Given the description of an element on the screen output the (x, y) to click on. 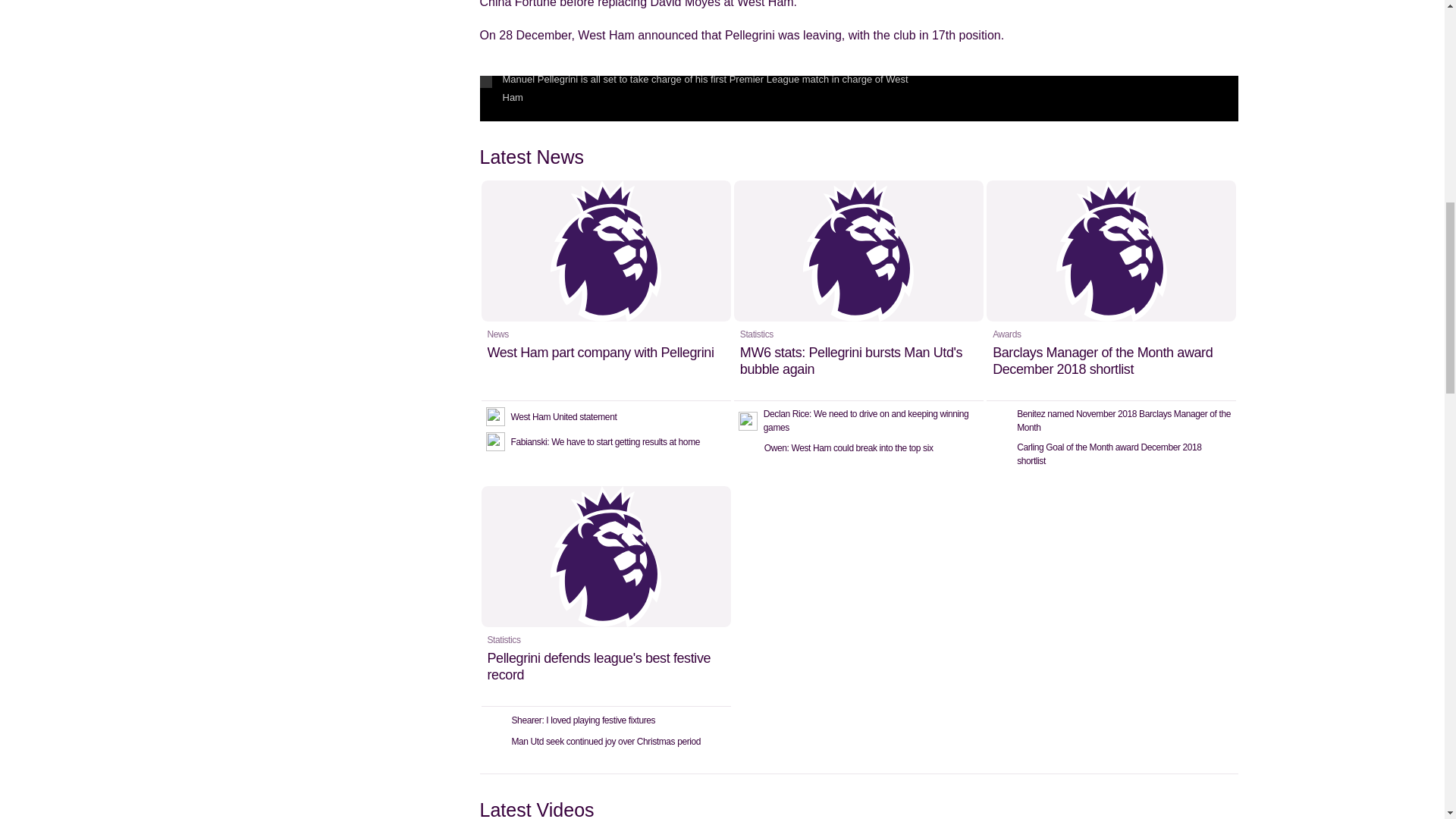
MW6 stats: Pellegrini bursts Man Utd's bubble again (858, 290)
West Ham part company with Pellegrini (605, 290)
Pellegrini defends league's best festive record (605, 595)
Barclays Manager of the Month award December 2018 shortlist (1111, 290)
